Given the description of an element on the screen output the (x, y) to click on. 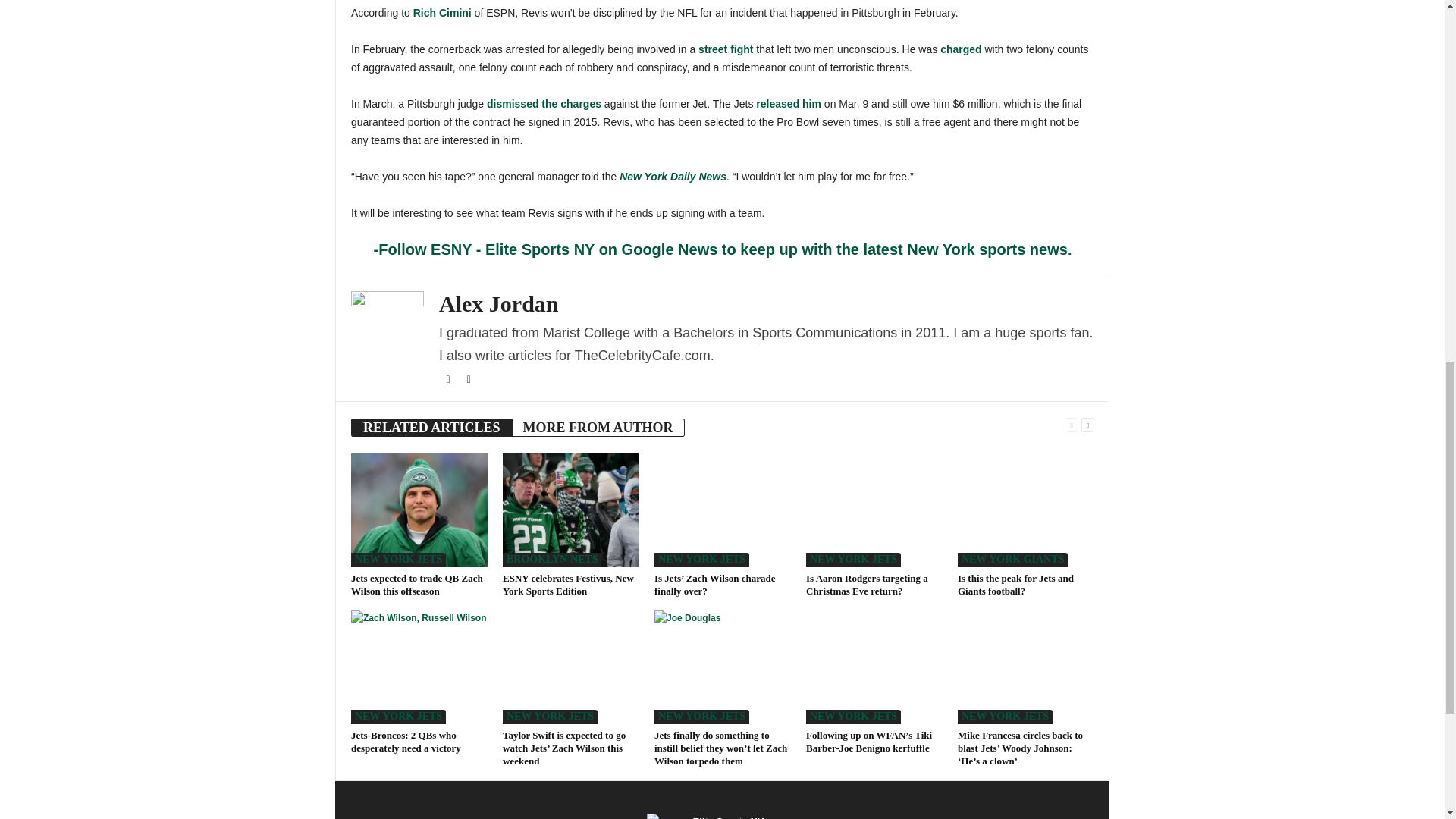
Jets expected to trade QB Zach Wilson this offseason (416, 584)
ESNY celebrates Festivus, New York Sports Edition (570, 510)
Facebook (449, 379)
Twitter (468, 379)
Jets expected to trade QB Zach Wilson this offseason (418, 510)
